Given the description of an element on the screen output the (x, y) to click on. 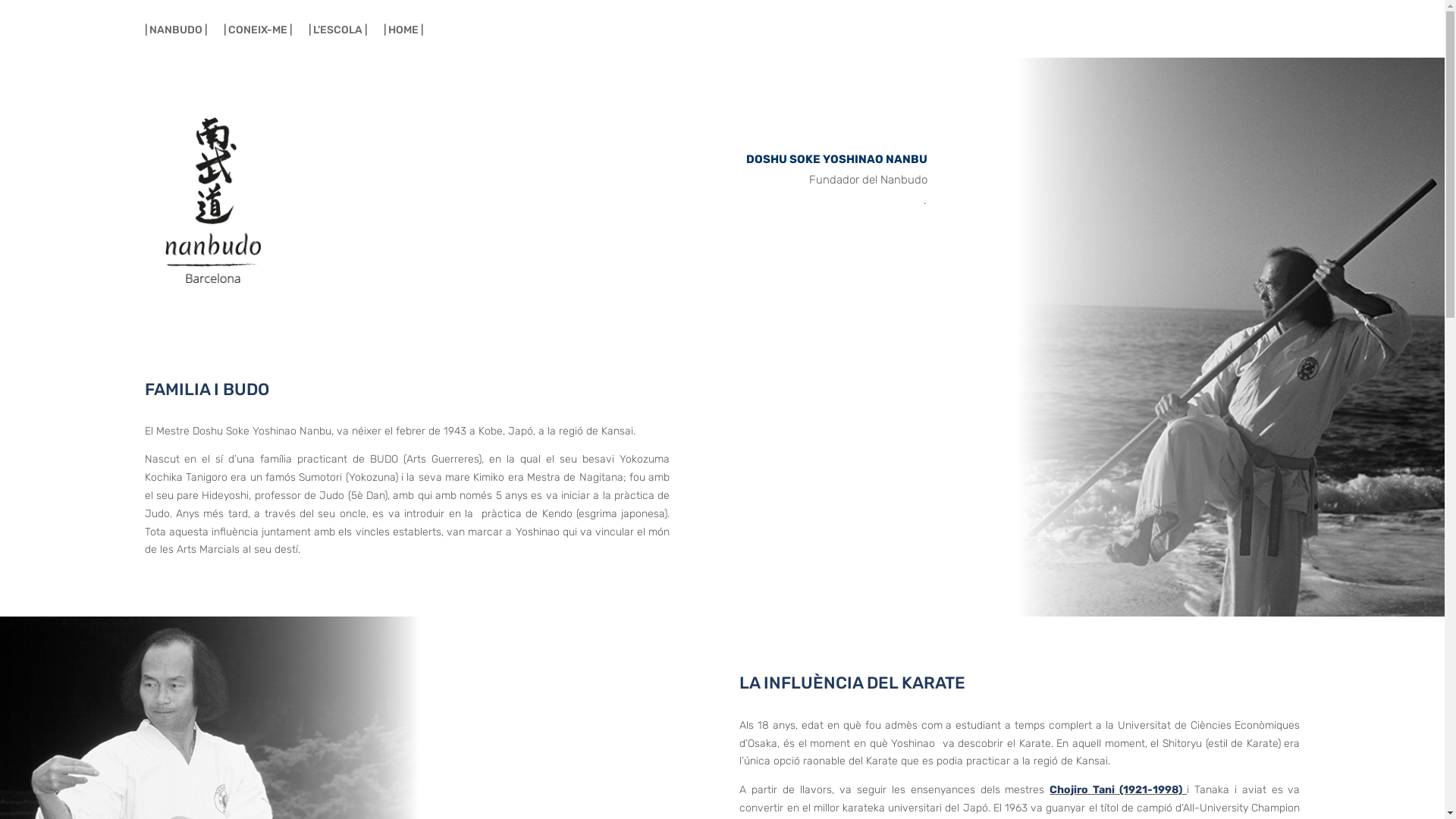
| HOME | Element type: text (403, 41)
| NANBUDO | Element type: text (175, 41)
| CONEIX-ME | Element type: text (256, 41)
Chojiro Tani (1921-1998) Element type: text (1115, 789)
